Given the description of an element on the screen output the (x, y) to click on. 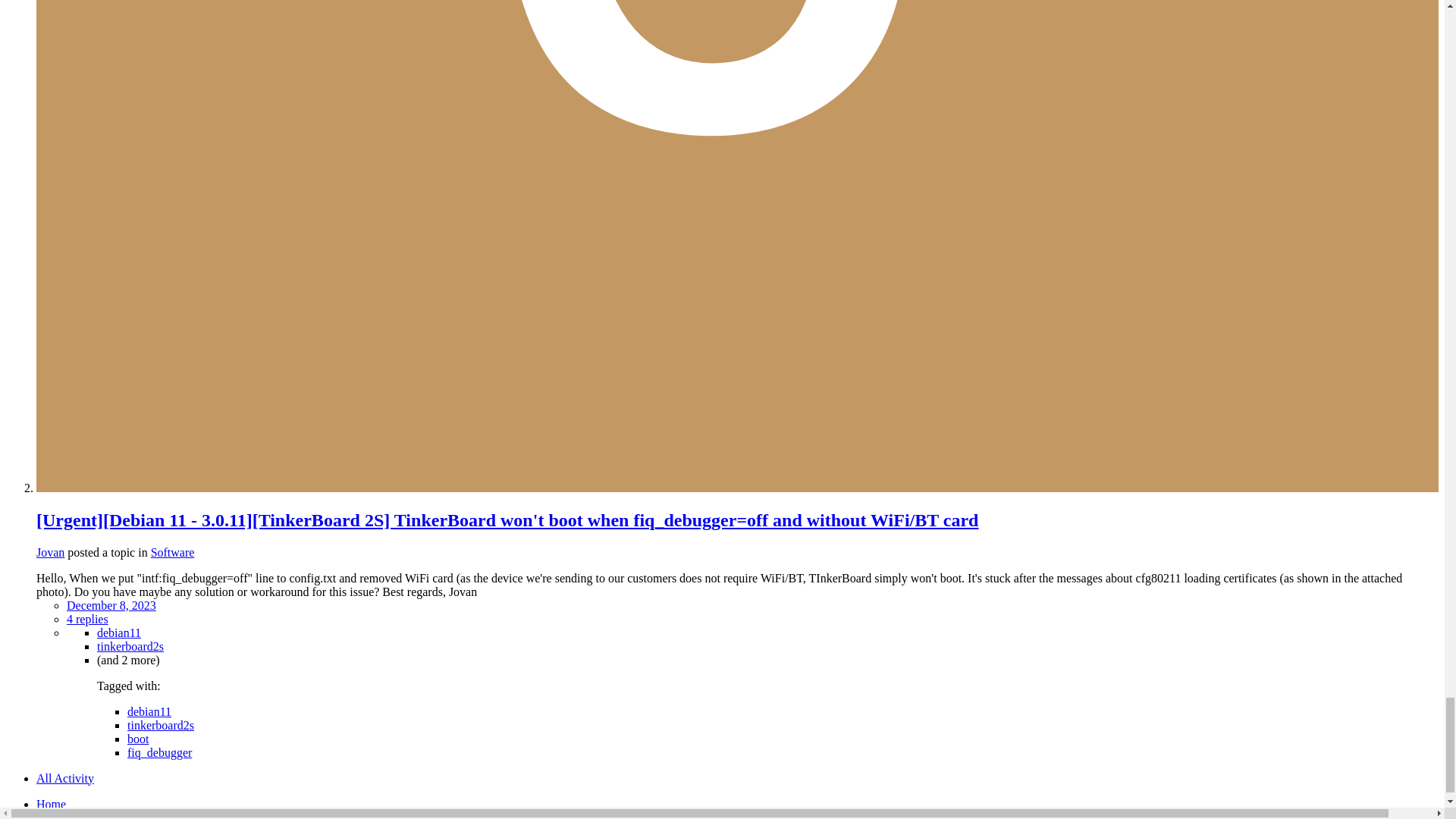
Go to Jovan's profile (50, 551)
Find other content tagged with 'debian11' (149, 710)
Find other content tagged with 'tinkerboard2s' (130, 645)
Find other content tagged with 'debian11' (119, 631)
